Given the description of an element on the screen output the (x, y) to click on. 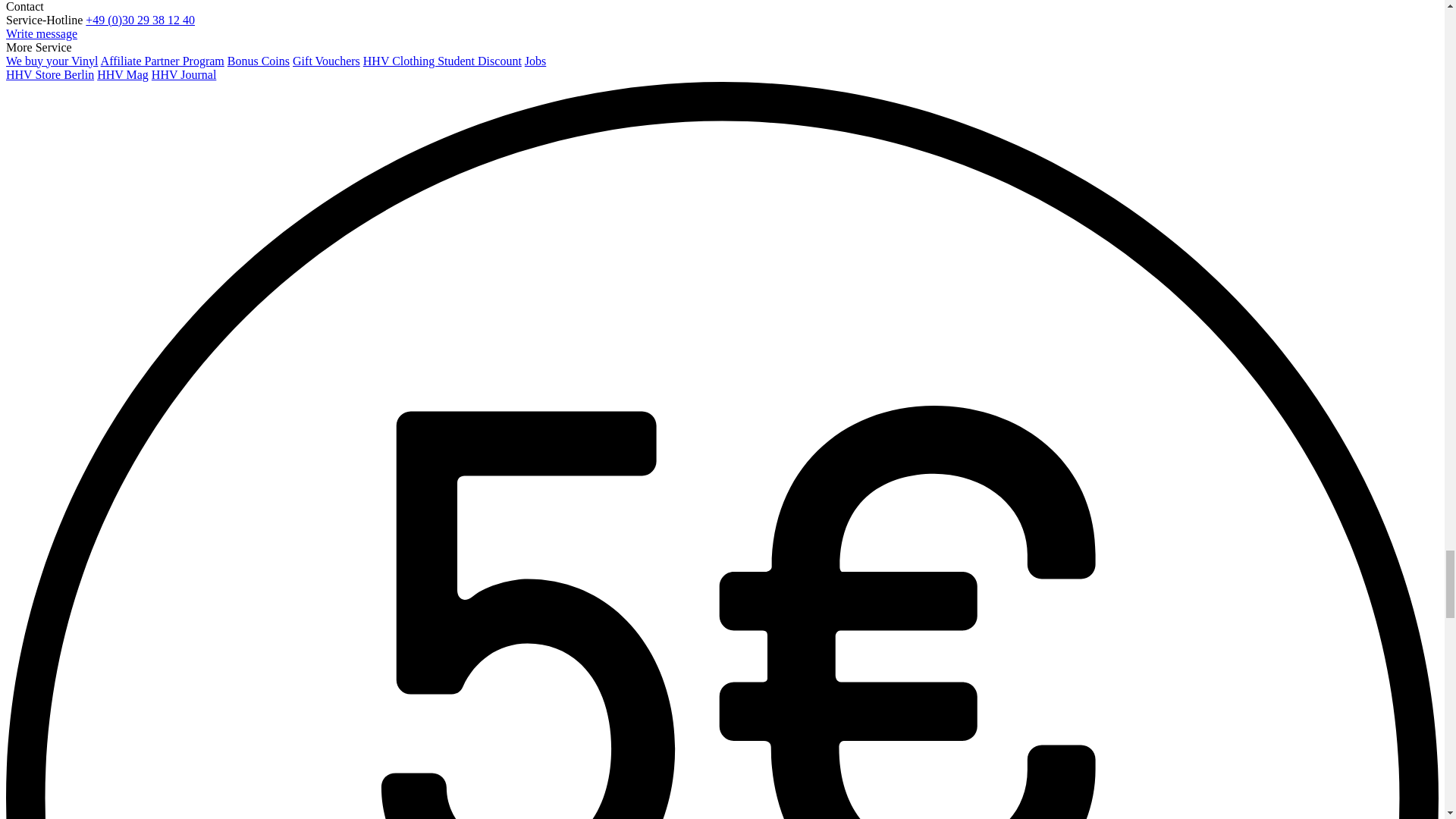
Write message (41, 33)
HHV Mag (122, 74)
Jobs (535, 60)
HHV Store Berlin (49, 74)
Bonus Coins (258, 60)
HHV Journal (183, 74)
HHV Clothing Student Discount (441, 60)
Gift Vouchers (325, 60)
Affiliate Partner Program (162, 60)
We buy your Vinyl (51, 60)
